Given the description of an element on the screen output the (x, y) to click on. 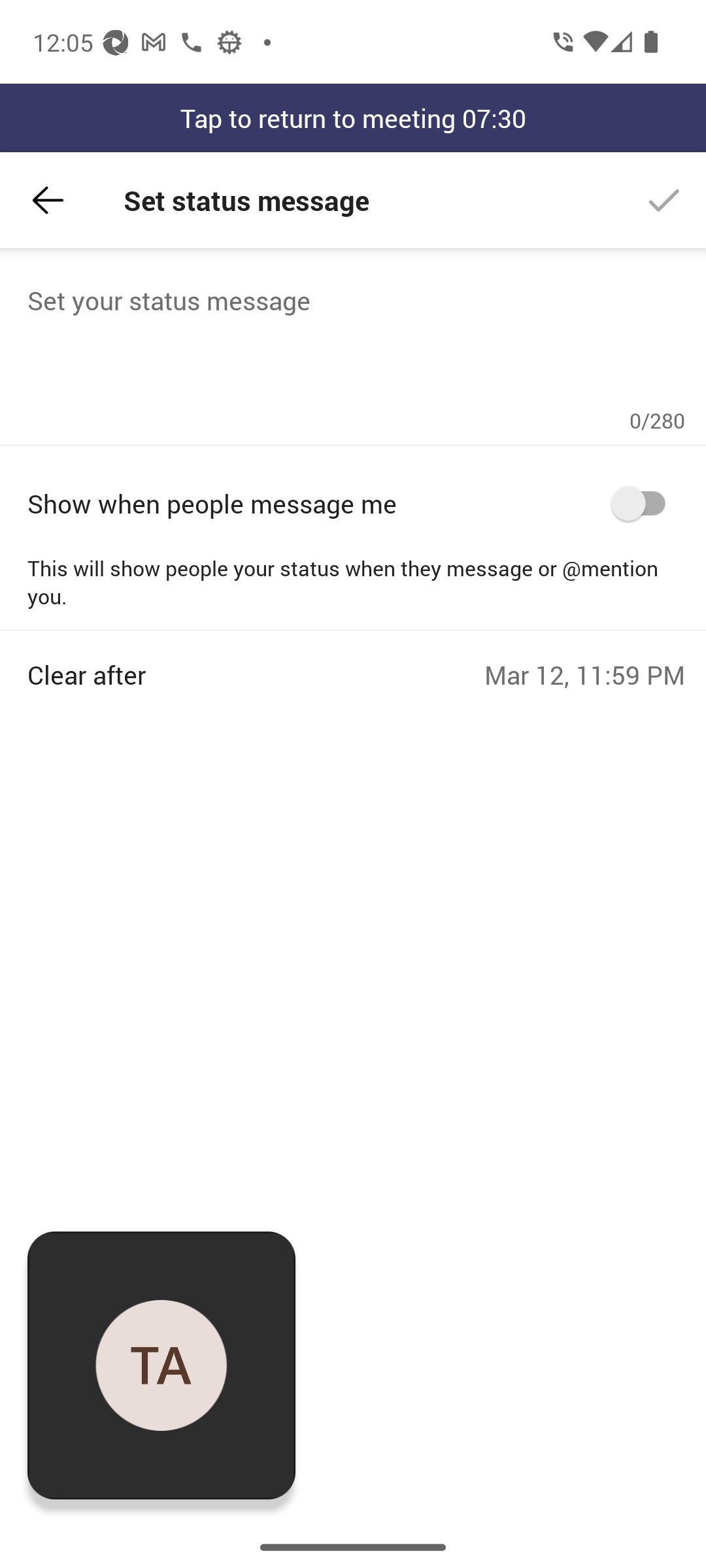
Tap to return to meeting 07:30 (353, 117)
Back (48, 199)
Save button (664, 199)
Set your status message (355, 344)
Show when people message me (355, 502)
Clear after Clear after Mar 12, 11:59 PM (355, 660)
